Given the description of an element on the screen output the (x, y) to click on. 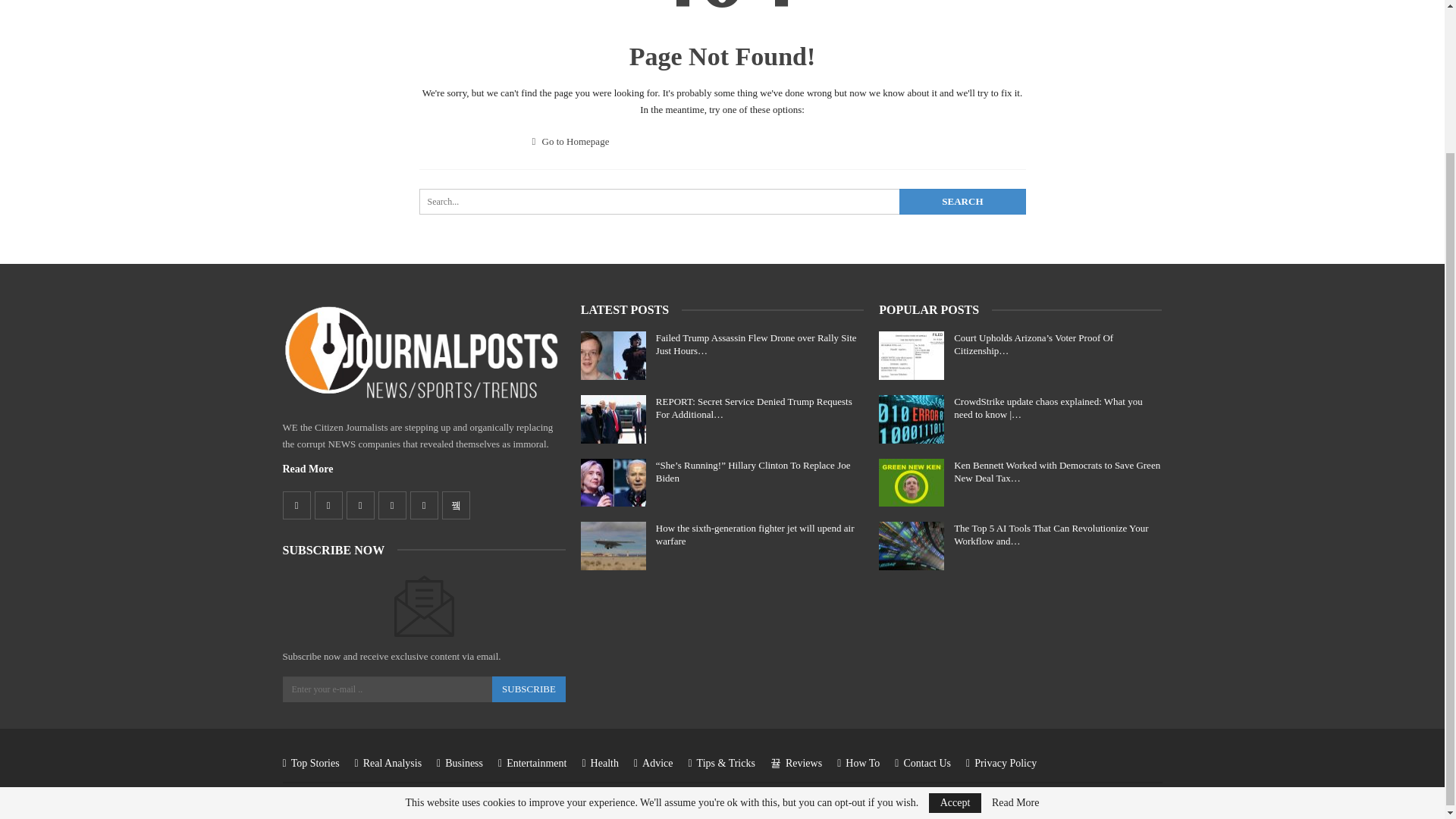
Go to Homepage (571, 141)
Read More (307, 469)
How the sixth-generation fighter jet will upend air warfare (613, 545)
Search (962, 201)
Search (962, 201)
Search for: (722, 201)
Search (962, 201)
